Given the description of an element on the screen output the (x, y) to click on. 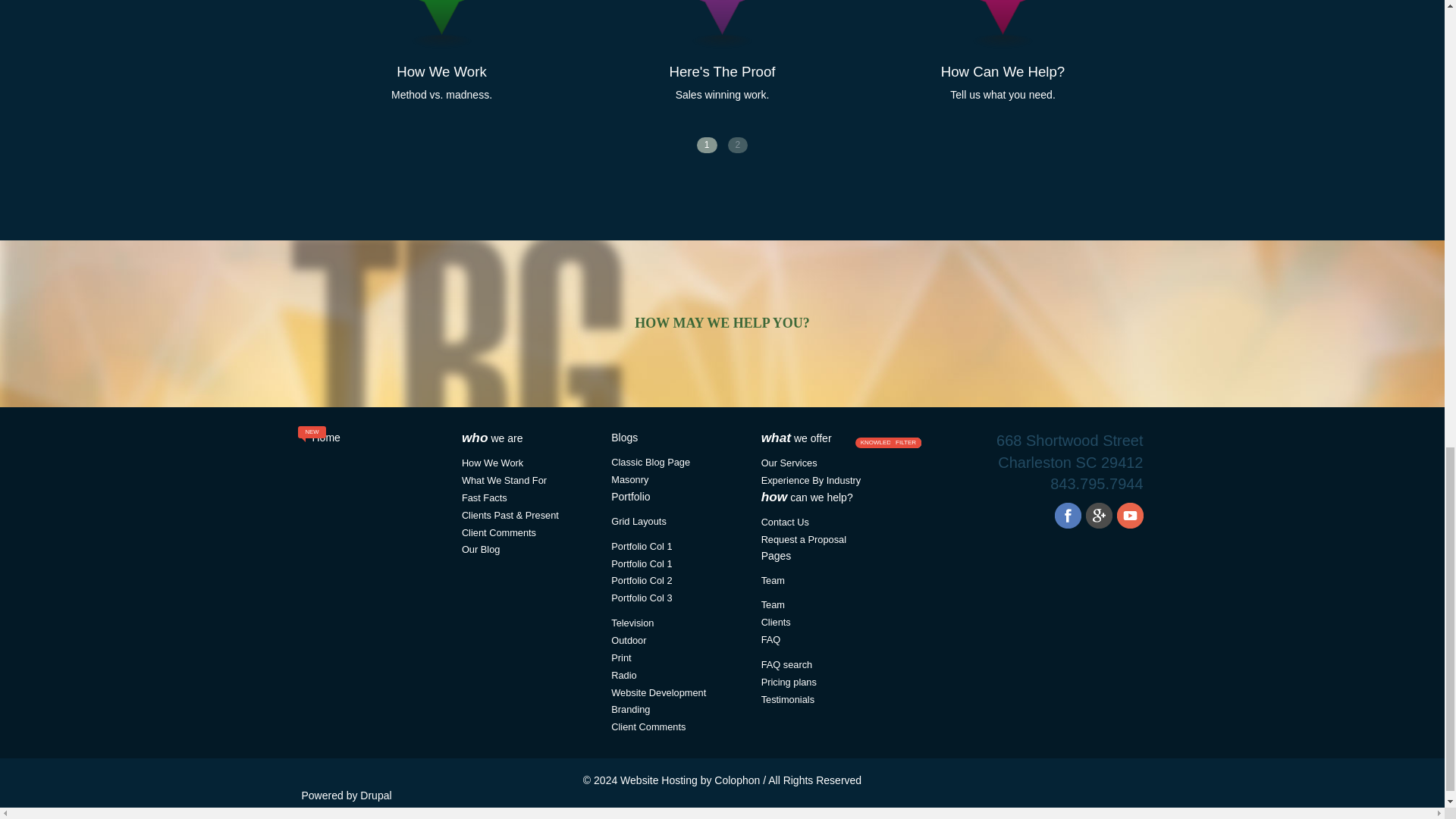
Client Comments (650, 461)
Grid Layouts (498, 532)
How we work (638, 521)
Our Services (441, 24)
who we are (630, 496)
How can we help you? (788, 462)
How Can We Help? (491, 438)
Fast Facts (1003, 24)
Blogs (1002, 71)
What We Stand For (629, 479)
Our Blog (483, 497)
